Given the description of an element on the screen output the (x, y) to click on. 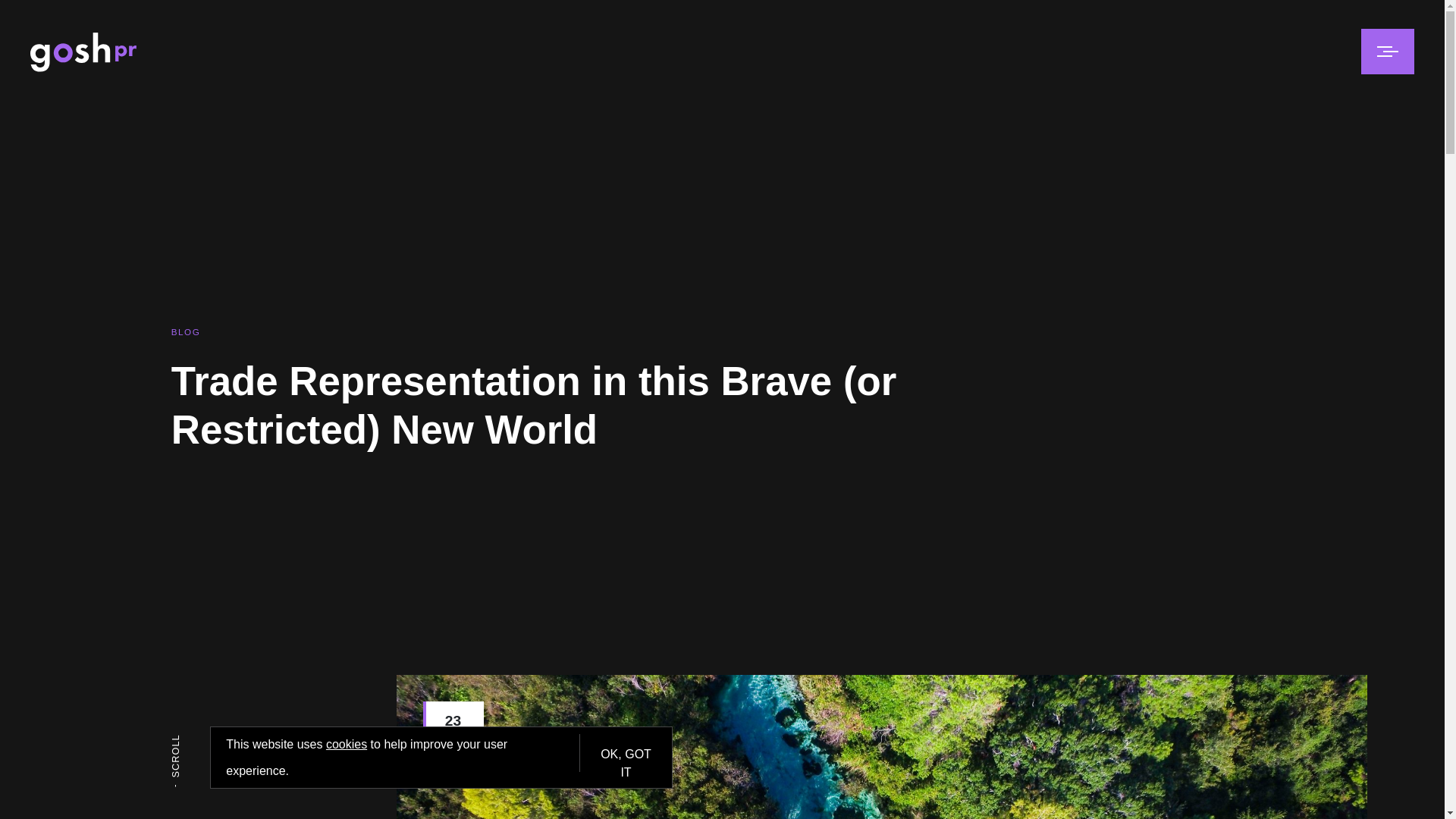
cookies (346, 744)
OK, GOT IT (625, 752)
